Given the description of an element on the screen output the (x, y) to click on. 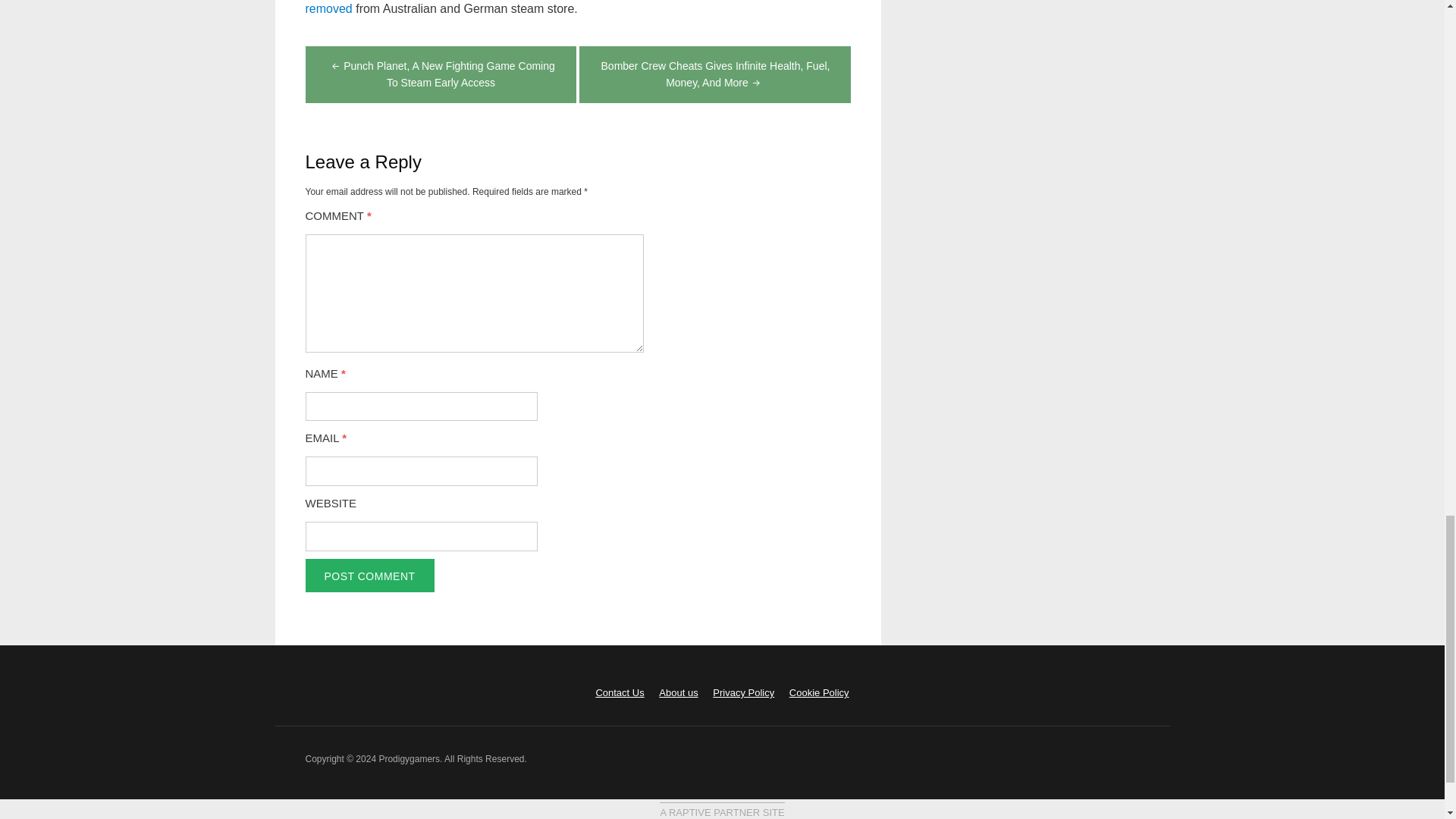
Post Comment (368, 575)
Valkyrie Drive: Bhikkhuni which got removed (569, 7)
